Given the description of an element on the screen output the (x, y) to click on. 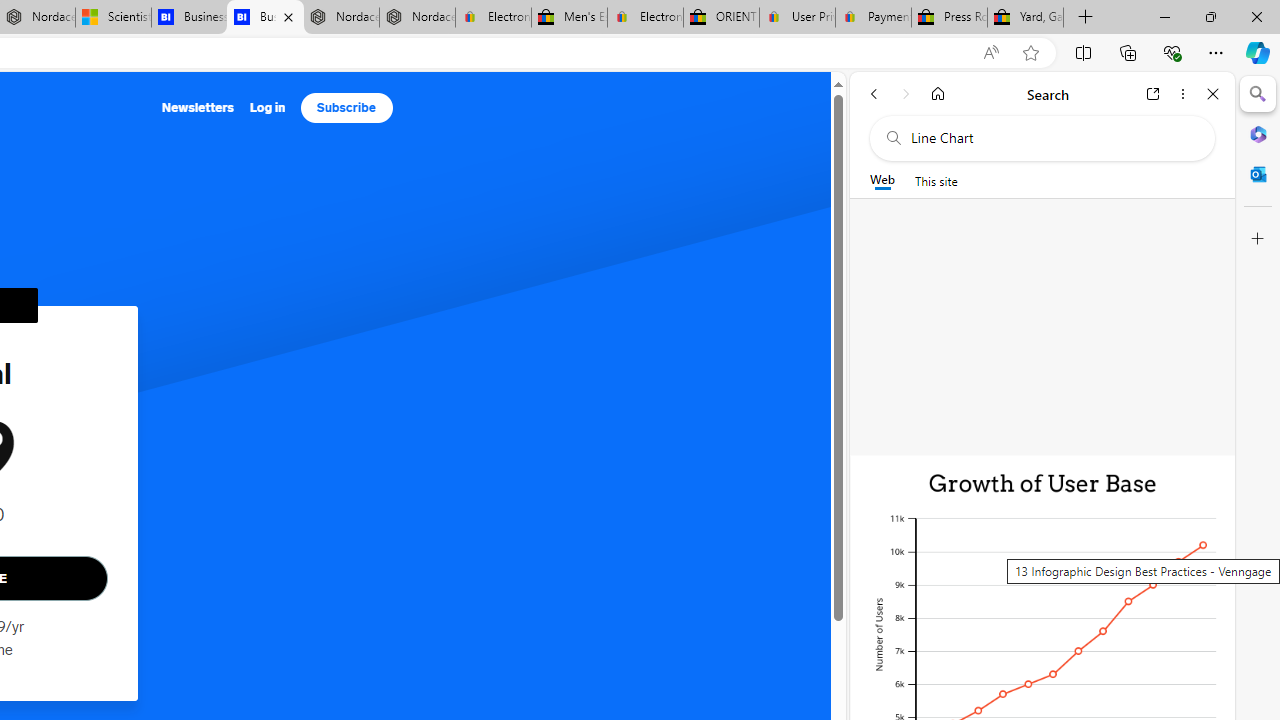
Minimize Search pane (1258, 94)
Log in (267, 107)
